Given the description of an element on the screen output the (x, y) to click on. 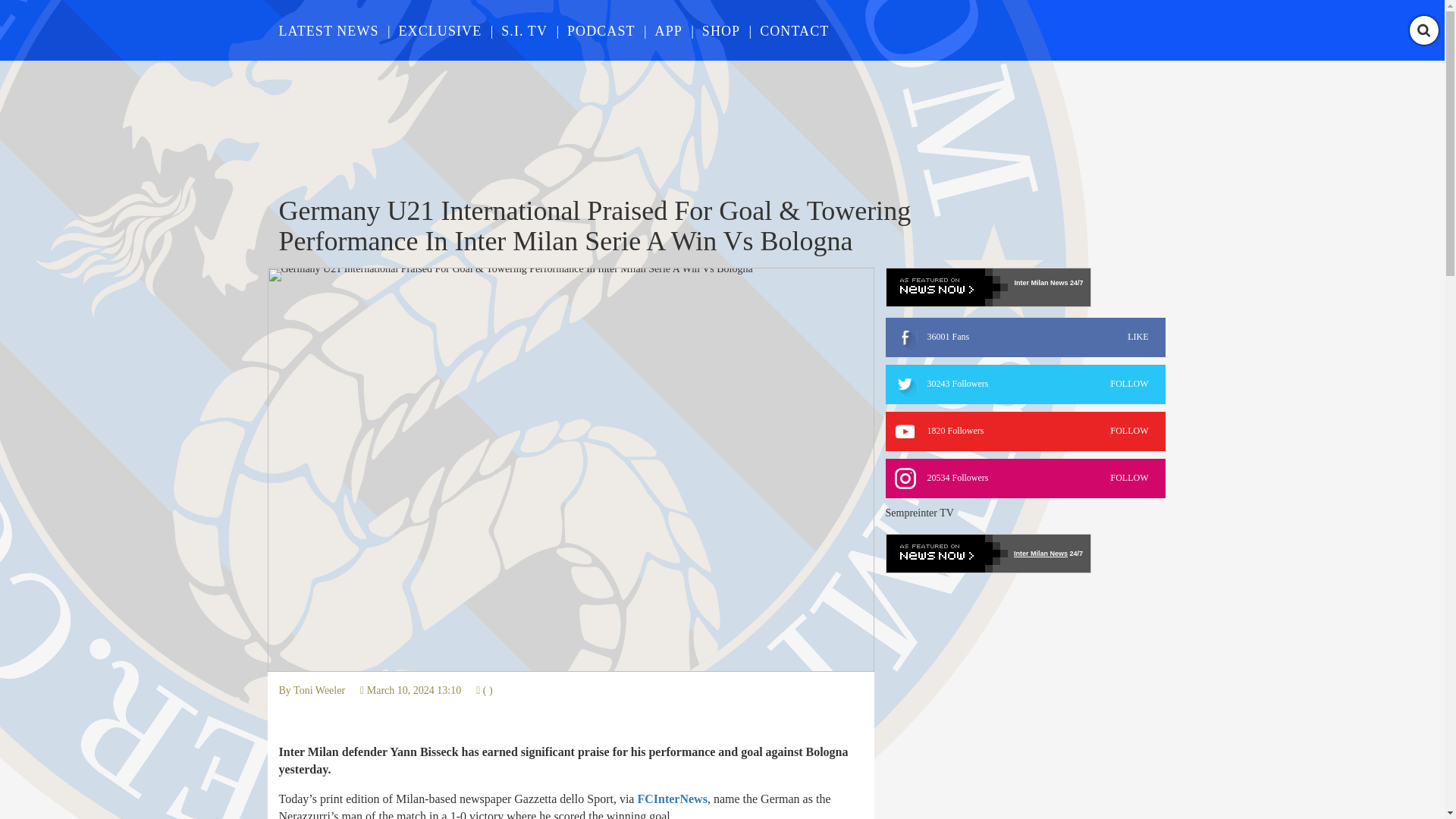
Click here for more Inter Milan News from NewsNow (1025, 337)
S.I. TV (987, 287)
EXCLUSIVE (523, 30)
FCInterNews (439, 30)
SHOP (671, 798)
APP (720, 30)
Inter Milan News (1025, 431)
View more articles by Toni Weeler (668, 30)
